Given the description of an element on the screen output the (x, y) to click on. 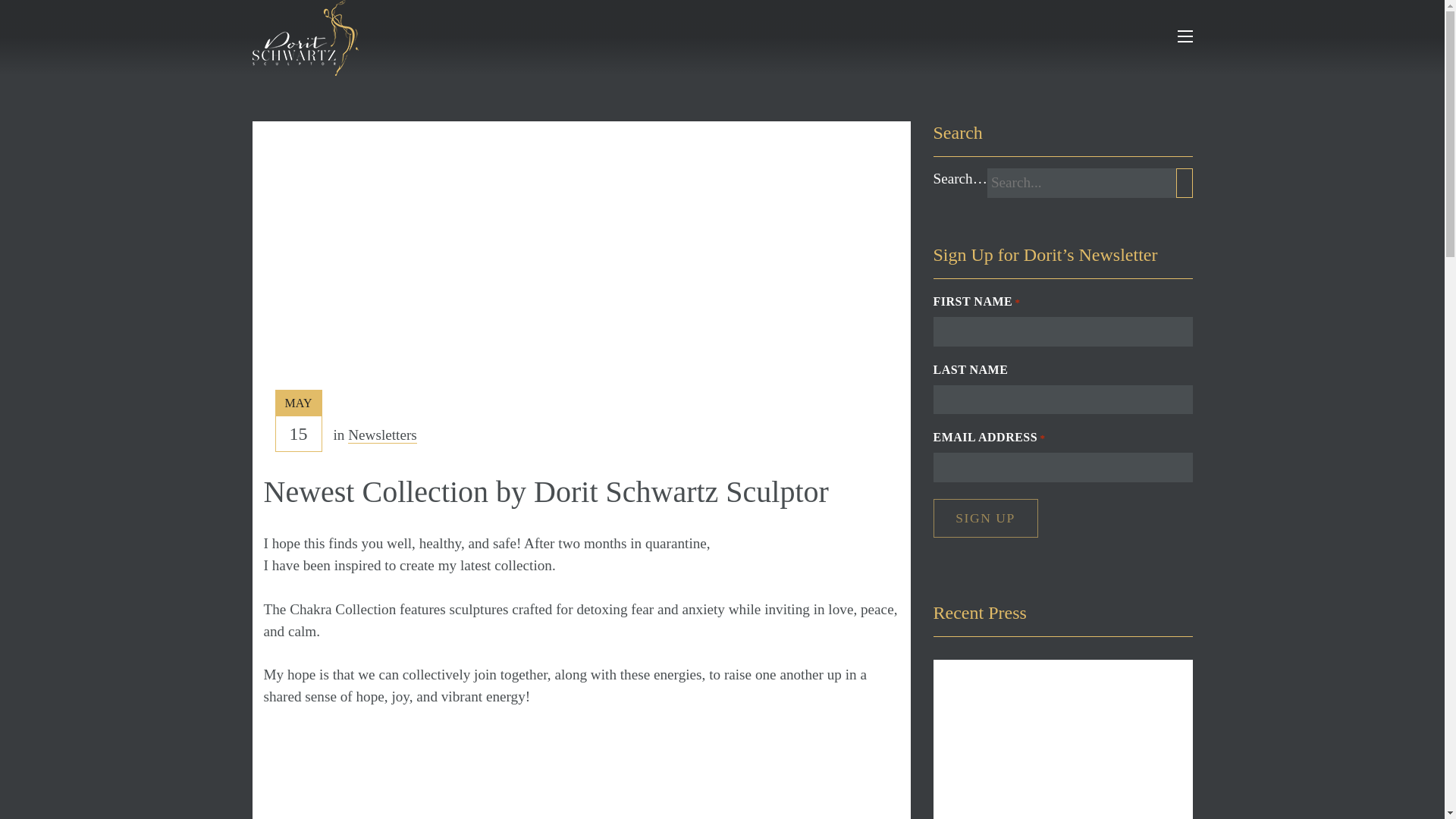
Sign Up (984, 518)
Newsletters (381, 434)
Dorit Schwartz Sculptor (304, 38)
Sign Up (984, 518)
